Given the description of an element on the screen output the (x, y) to click on. 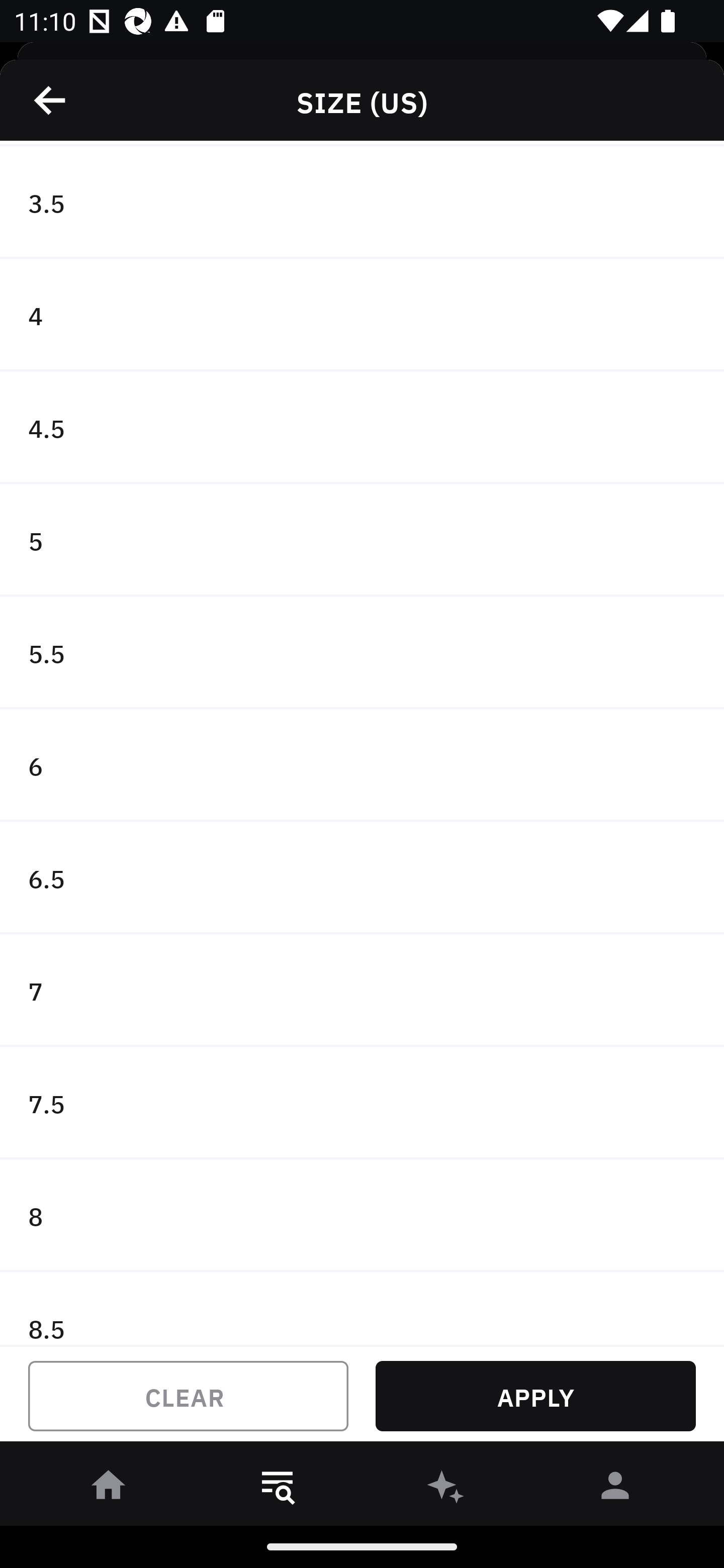
 (50, 100)
3.5 (362, 201)
4 (362, 314)
4.5 (362, 427)
5 (362, 539)
5.5 (362, 651)
6 (362, 764)
6.5 (362, 877)
7 (362, 990)
7.5 (362, 1102)
8 (362, 1214)
8.5 (362, 1308)
CLEAR  (188, 1396)
APPLY (535, 1396)
󰋜 (108, 1488)
󱎸 (277, 1488)
󰫢 (446, 1488)
󰀄 (615, 1488)
